Given the description of an element on the screen output the (x, y) to click on. 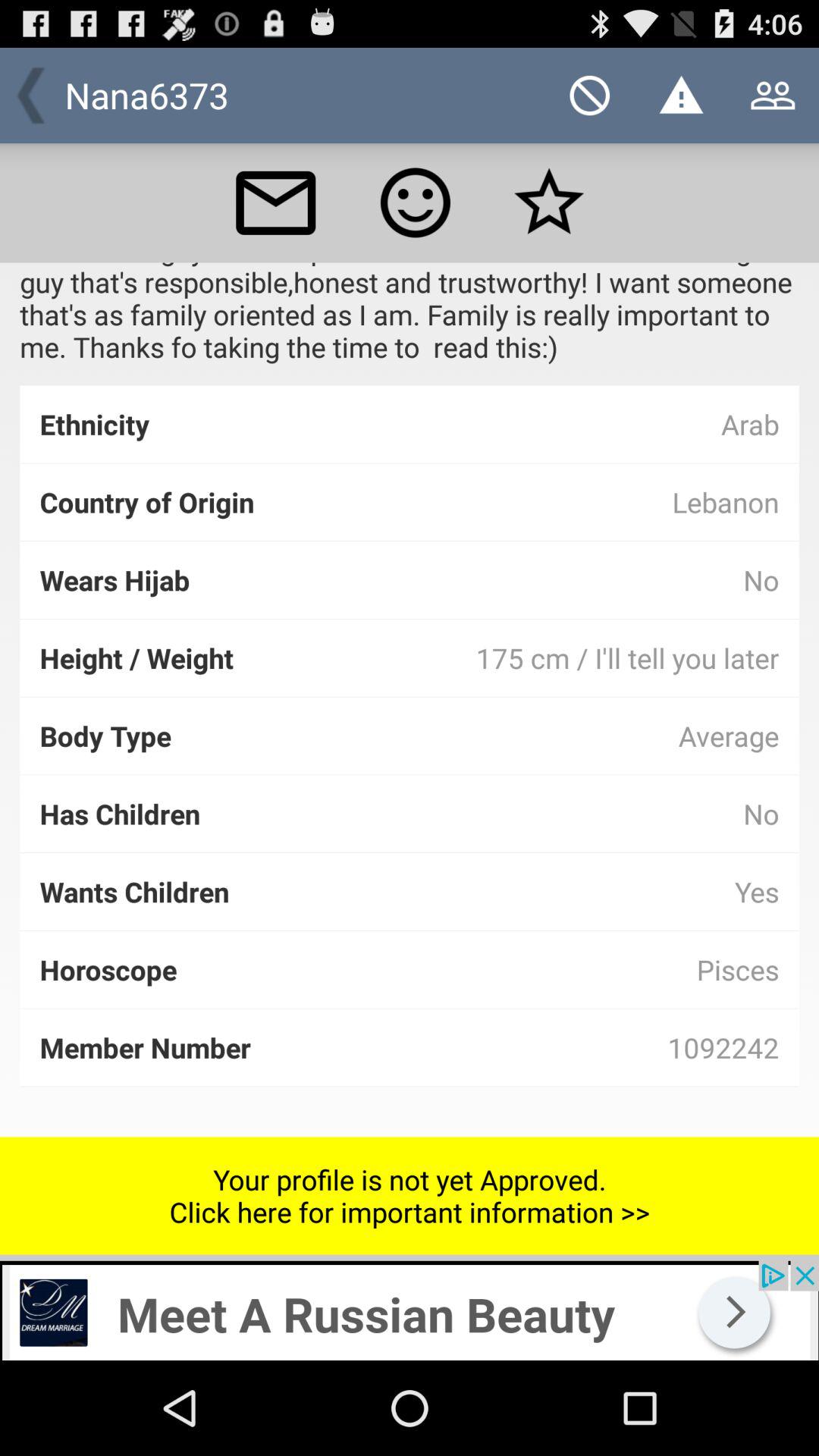
select favorite (548, 202)
